Given the description of an element on the screen output the (x, y) to click on. 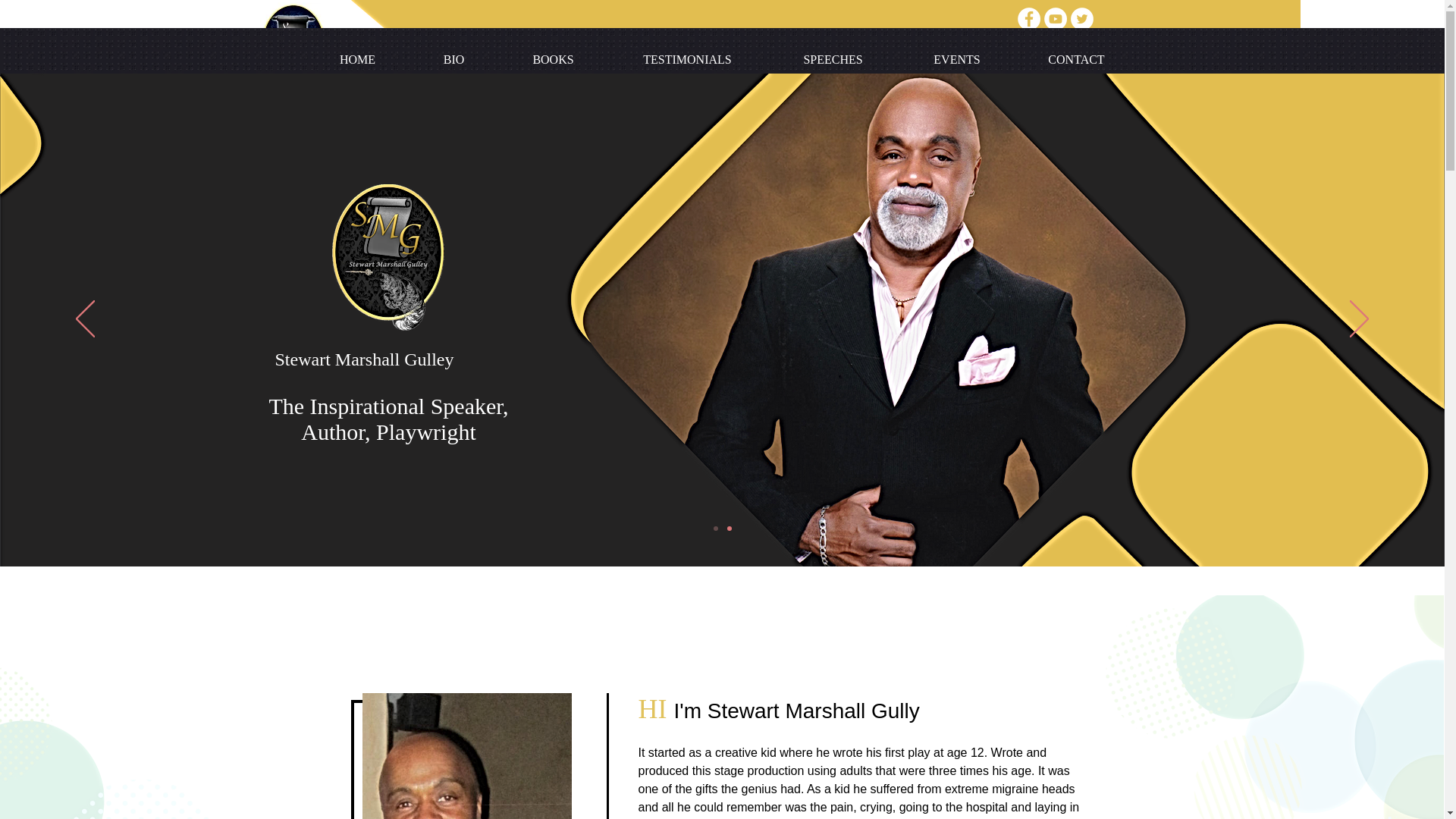
EVENTS (962, 63)
BIO (453, 59)
CONTACT (1076, 59)
EVENTS (956, 59)
BOOKS (659, 63)
SPEECHES (871, 63)
CONTACT (1048, 63)
TESTIMONIALS (760, 63)
BIO (594, 63)
HOME (356, 59)
TESTIMONIALS (686, 59)
BOOKS (552, 59)
SPEECHES (832, 59)
HOME (531, 63)
